Given the description of an element on the screen output the (x, y) to click on. 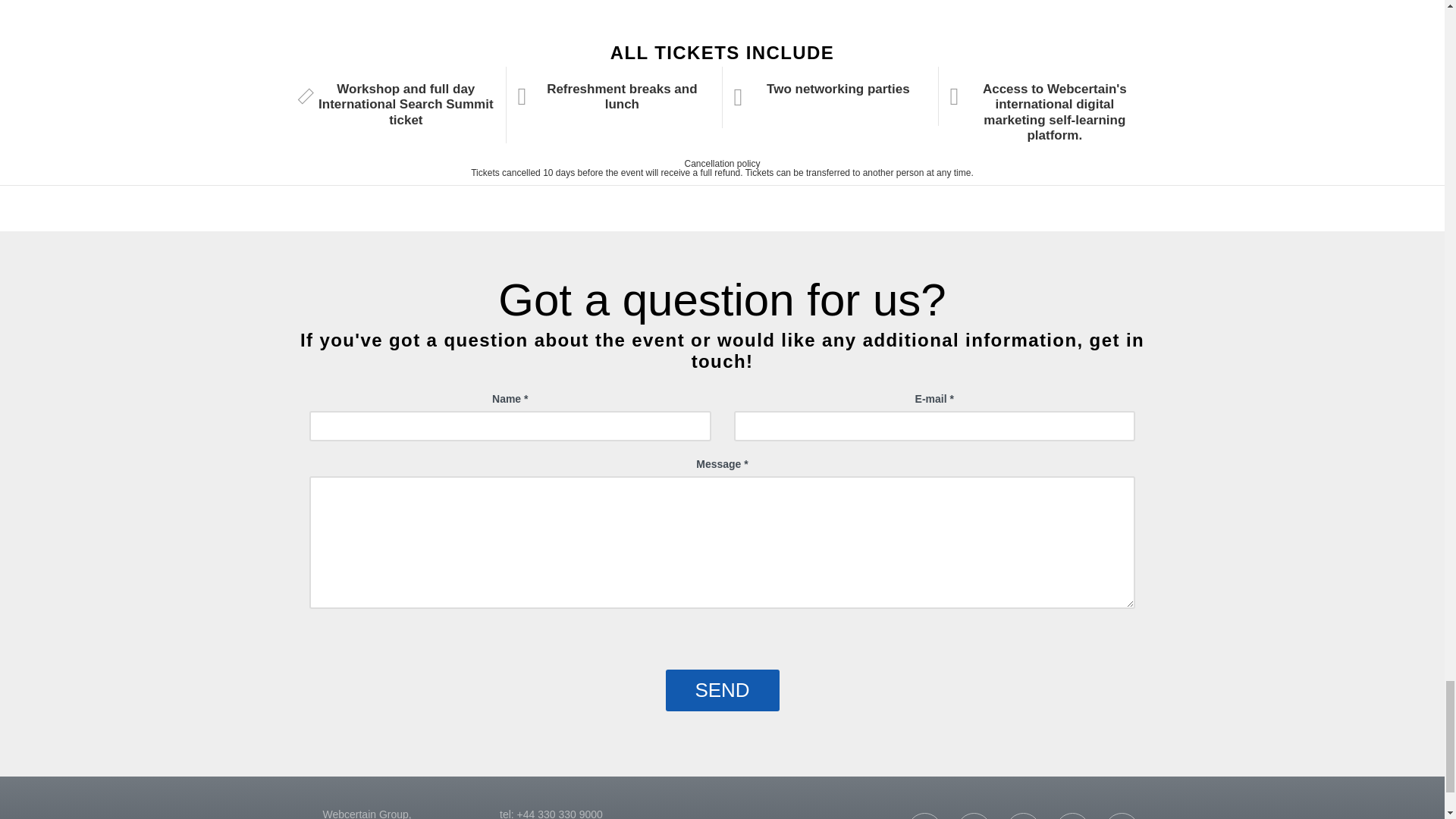
SEND (721, 690)
